Given the description of an element on the screen output the (x, y) to click on. 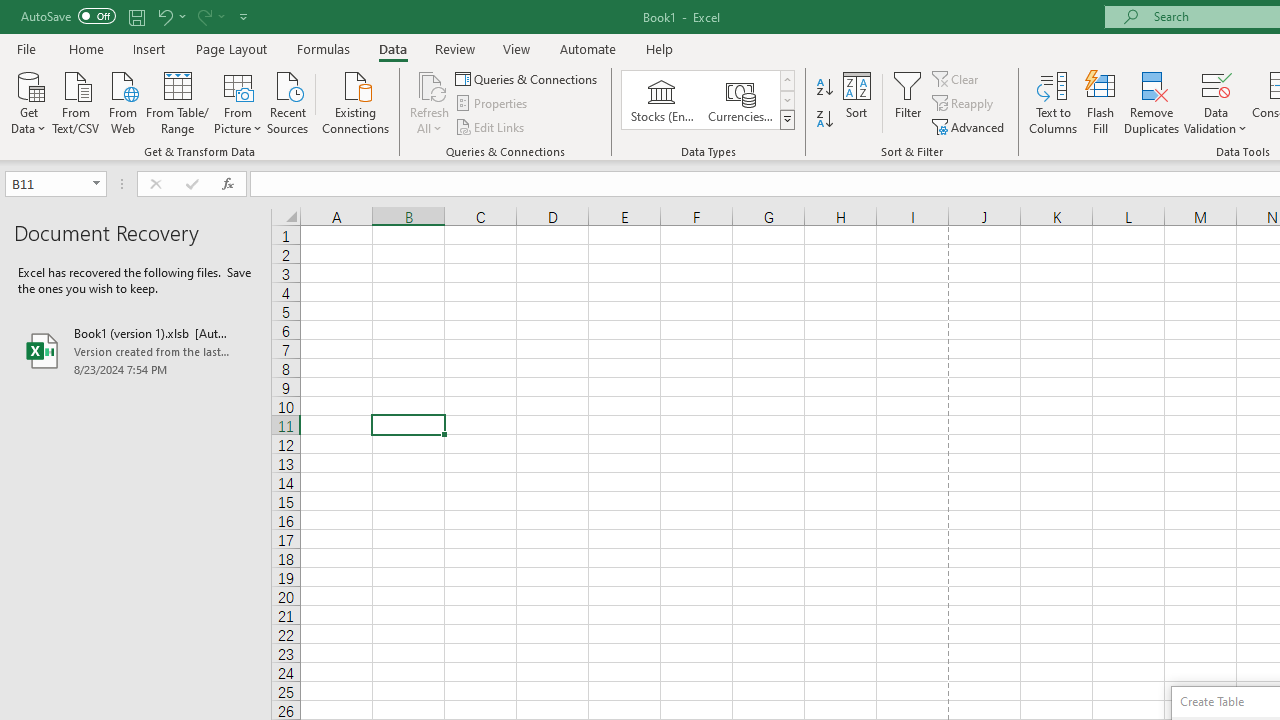
Text to Columns... (1053, 102)
Sort... (856, 102)
Clear (957, 78)
Class: NetUIImage (787, 119)
Edit Links (491, 126)
